Given the description of an element on the screen output the (x, y) to click on. 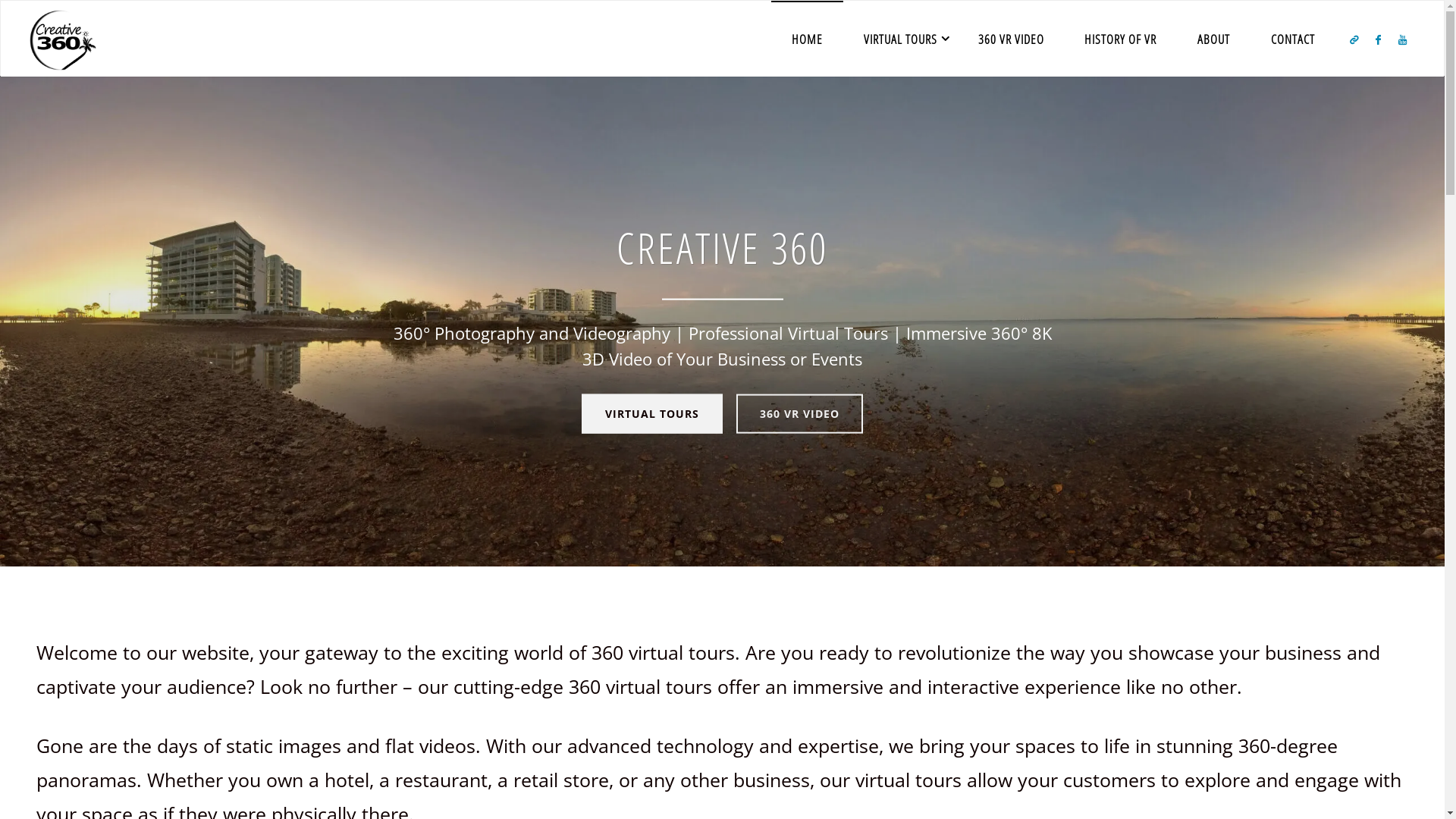
Virtual Tours & 360 VR Video Production Element type: hover (121, 105)
HOME Element type: text (807, 38)
360 VR VIDEO Element type: text (1010, 38)
HISTORY OF VR Element type: text (1120, 38)
Creative 360 Element type: hover (62, 38)
Email Element type: hover (1354, 39)
360 VR VIDEO Element type: text (799, 413)
Facebook Element type: hover (1378, 39)
VIRTUAL TOURS Element type: text (651, 413)
VIRTUAL TOURS Element type: text (900, 38)
ABOUT Element type: text (1213, 38)
CONTACT Element type: text (1292, 38)
Youtube Element type: hover (1402, 39)
